Given the description of an element on the screen output the (x, y) to click on. 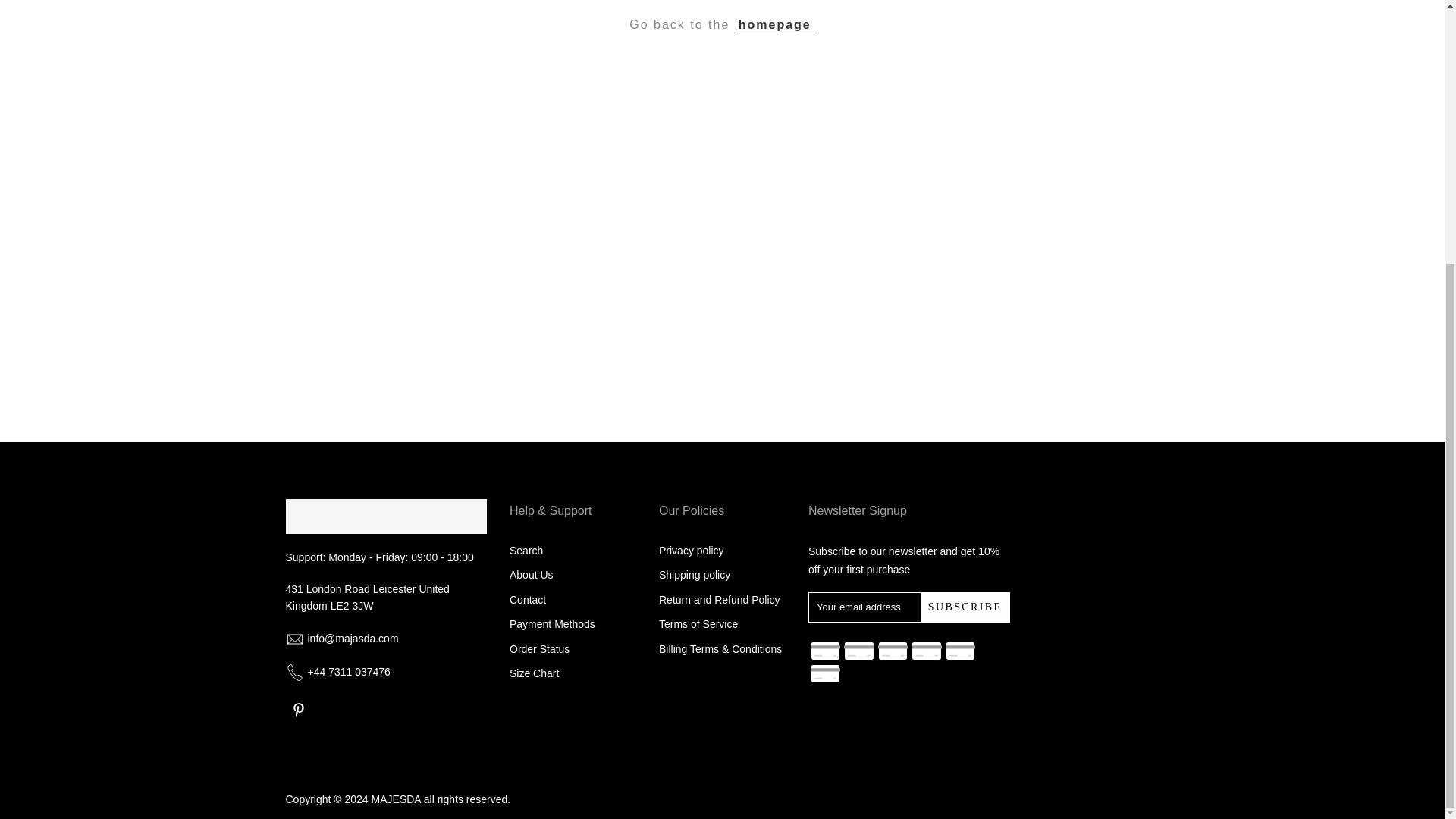
Follow on Pinterest (298, 709)
Privacy policy (691, 550)
Payment Methods (552, 623)
homepage (775, 24)
Contact (527, 599)
Return and Refund Policy (719, 599)
Terms of Service (698, 623)
Order Status (539, 648)
Shipping policy (694, 574)
Search (526, 550)
